Given the description of an element on the screen output the (x, y) to click on. 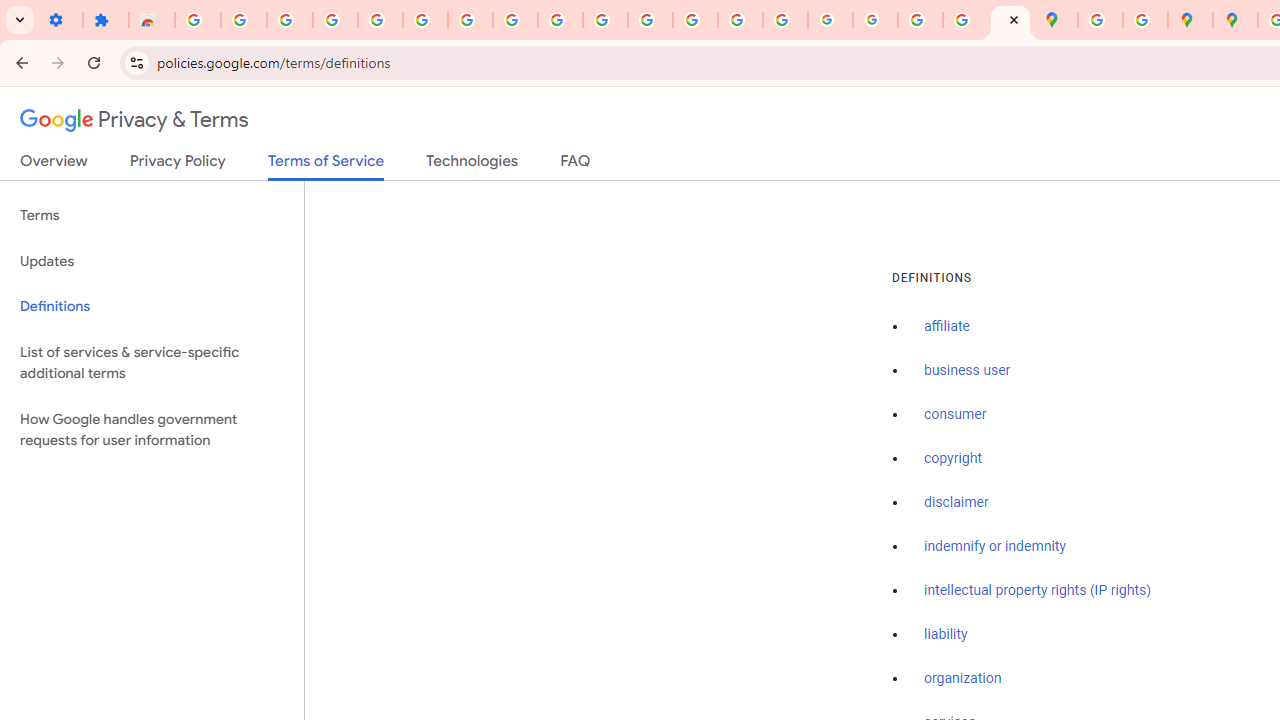
https://scholar.google.com/ (650, 20)
copyright (952, 459)
Safety in Our Products - Google Safety Center (1145, 20)
Reviews: Helix Fruit Jump Arcade Game (152, 20)
Reload (93, 62)
Search tabs (20, 20)
Google Account (514, 20)
business user (967, 371)
Updates (152, 261)
